Given the description of an element on the screen output the (x, y) to click on. 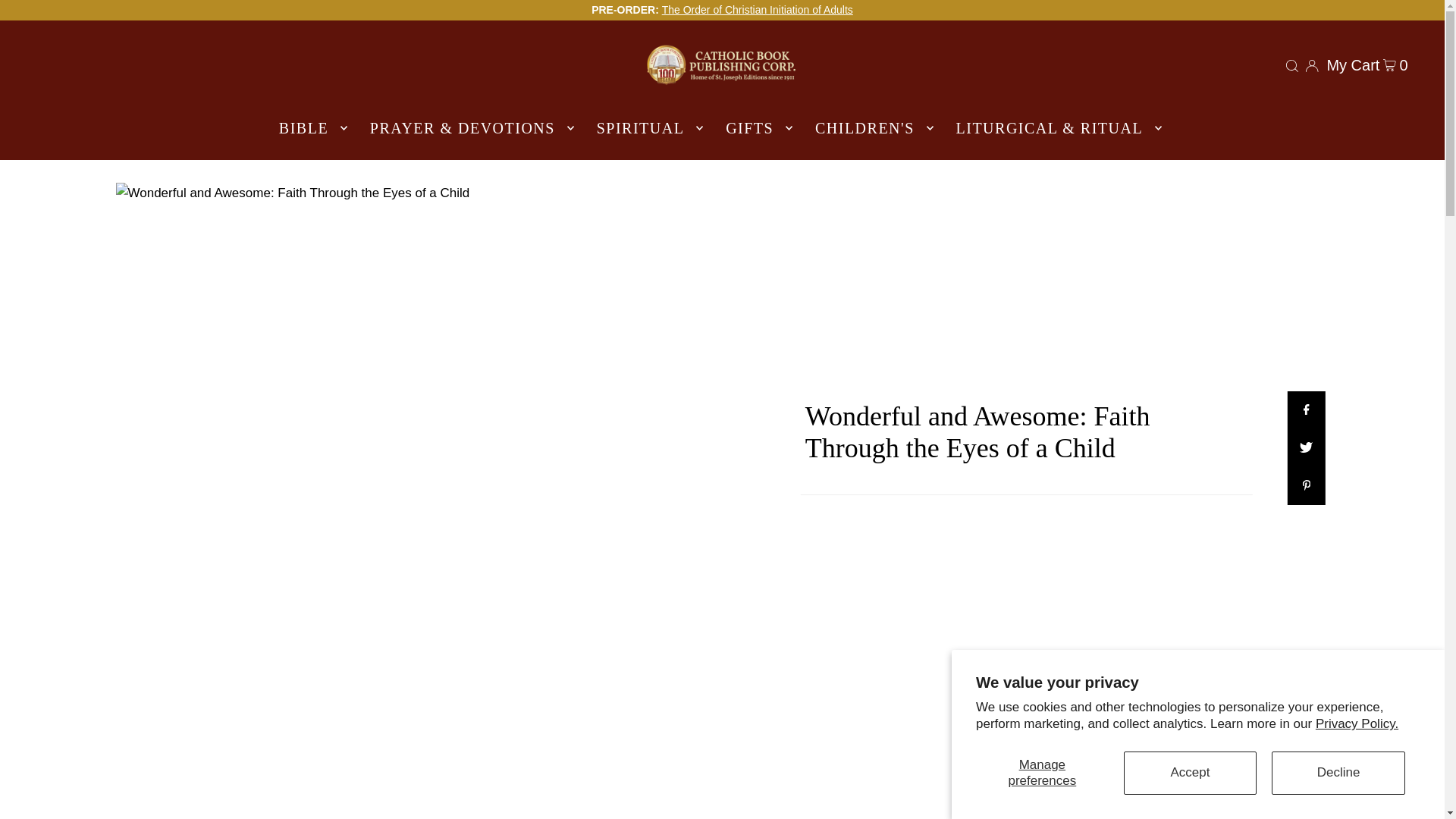
The Order of Christian Initiation of Adults (757, 9)
BIBLE (308, 127)
Accept (1190, 772)
Privacy Policy. (1356, 723)
Manage preferences (1041, 772)
Decline (1338, 772)
